Given the description of an element on the screen output the (x, y) to click on. 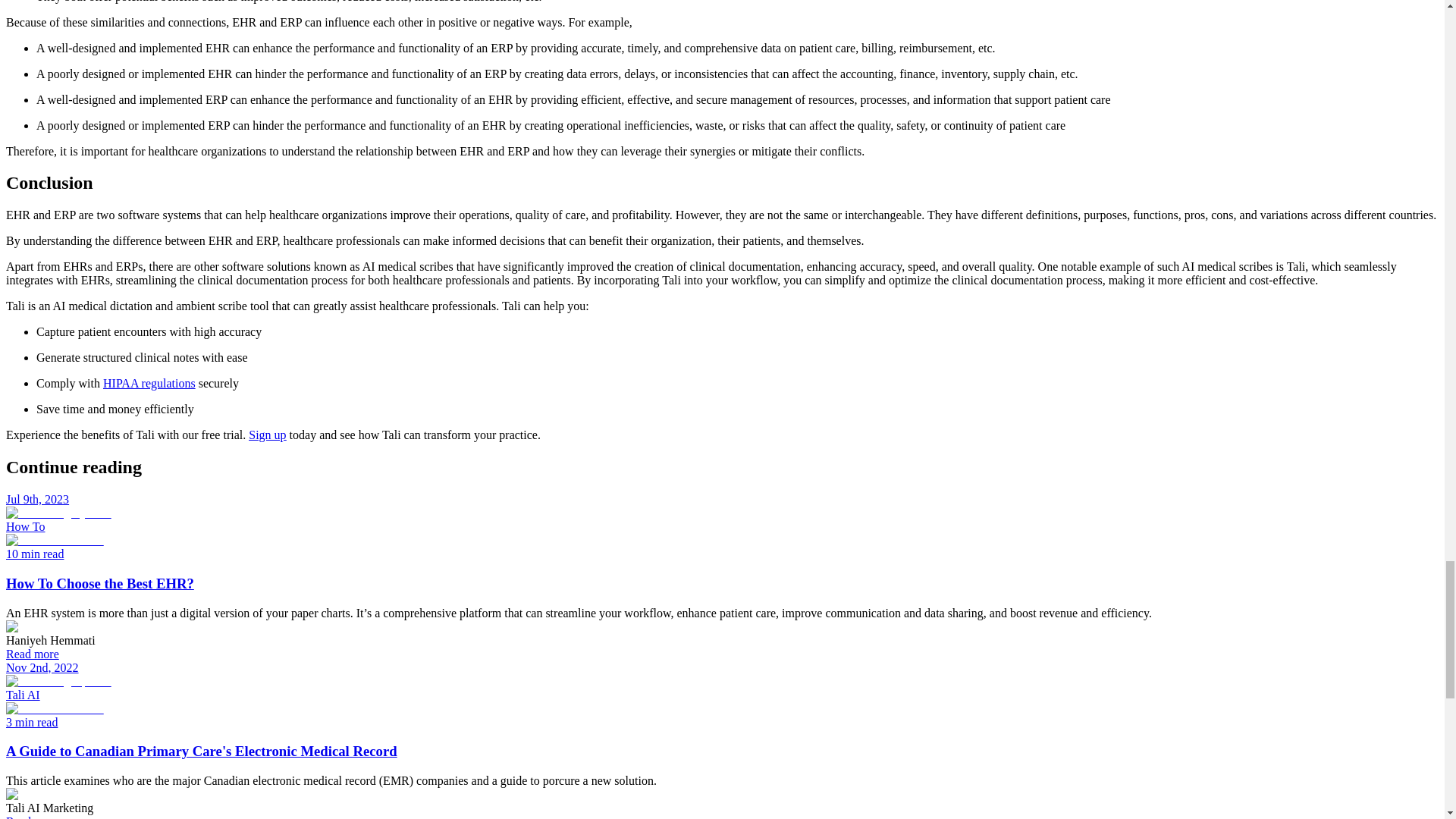
Read more (32, 653)
Sign up (266, 434)
HIPAA regulations (149, 382)
Read more (32, 816)
